Given the description of an element on the screen output the (x, y) to click on. 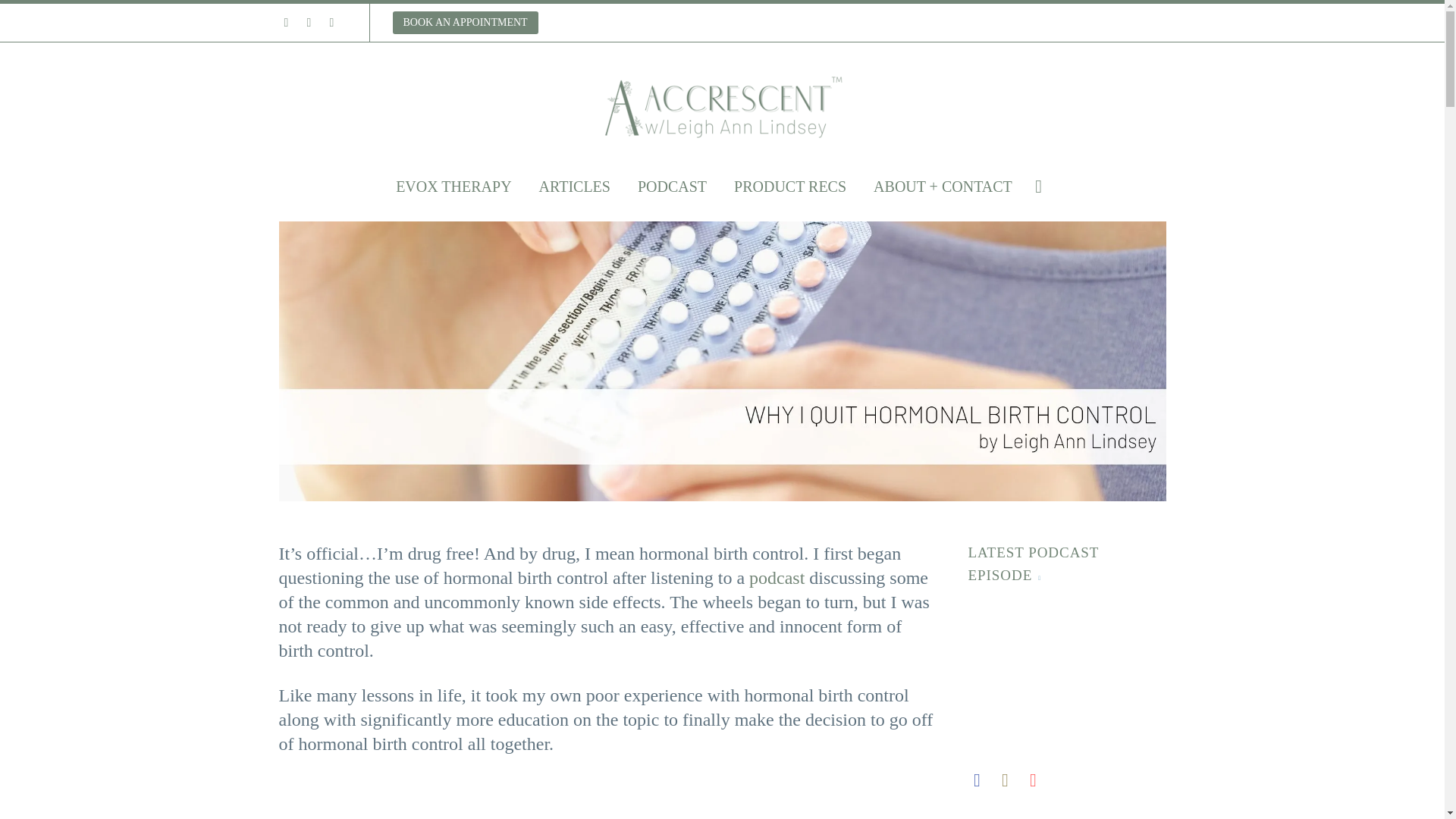
Pinterest (331, 22)
Facebook (286, 22)
Instagram (308, 22)
podcast (777, 578)
PODCAST (671, 186)
PRODUCT RECS (789, 186)
BOOK AN APPOINTMENT (465, 22)
EVOX THERAPY (453, 186)
ARTICLES (574, 186)
